Given the description of an element on the screen output the (x, y) to click on. 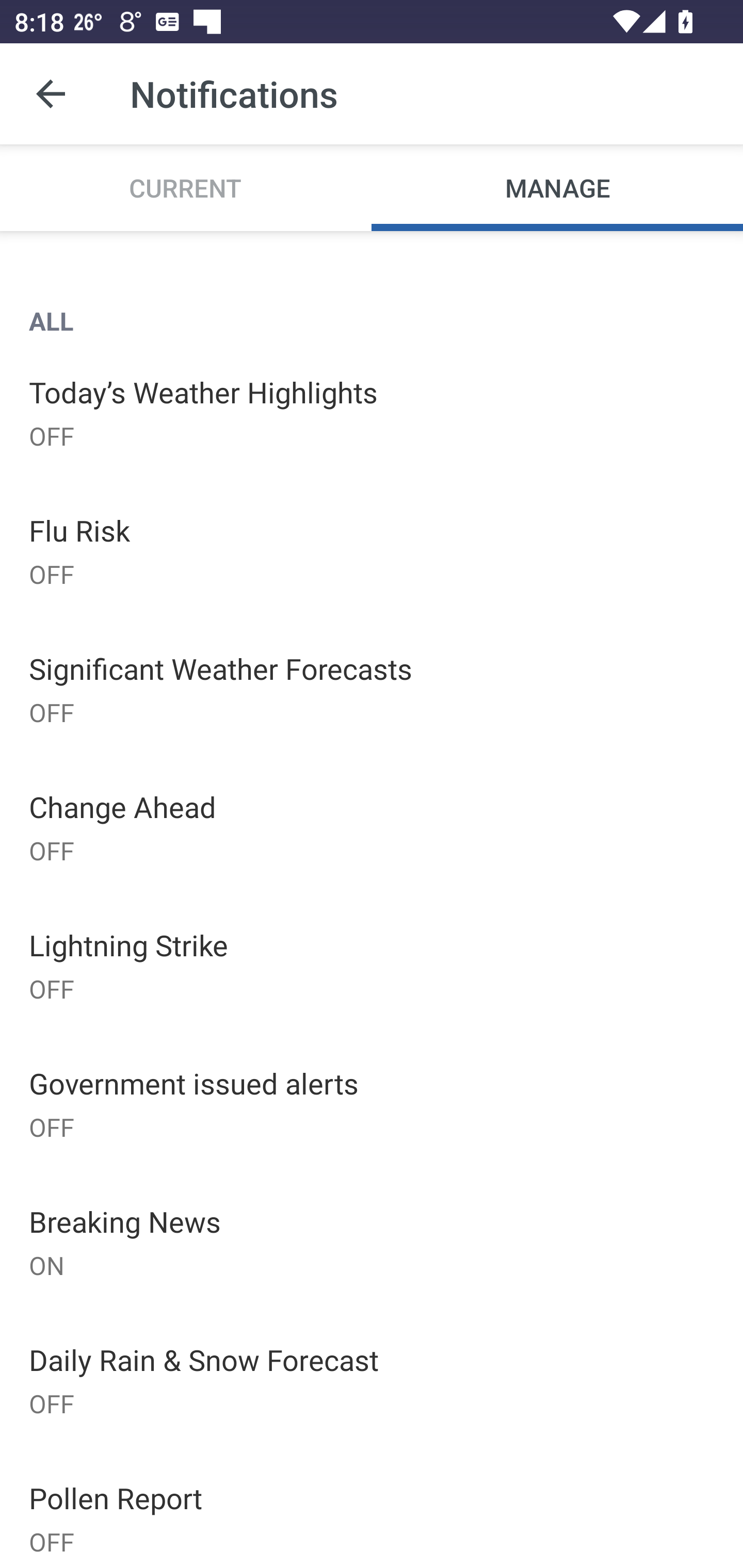
Navigate up (50, 93)
Current Tab CURRENT (185, 187)
Today’s Weather Highlights OFF (371, 412)
Flu Risk OFF (371, 550)
Significant Weather Forecasts OFF (371, 688)
Change Ahead OFF (371, 827)
Lightning Strike OFF (371, 965)
Government issued alerts OFF (371, 1103)
Breaking News ON (371, 1241)
Daily Rain & Snow Forecast OFF (371, 1379)
Pollen Report OFF (371, 1508)
